Given the description of an element on the screen output the (x, y) to click on. 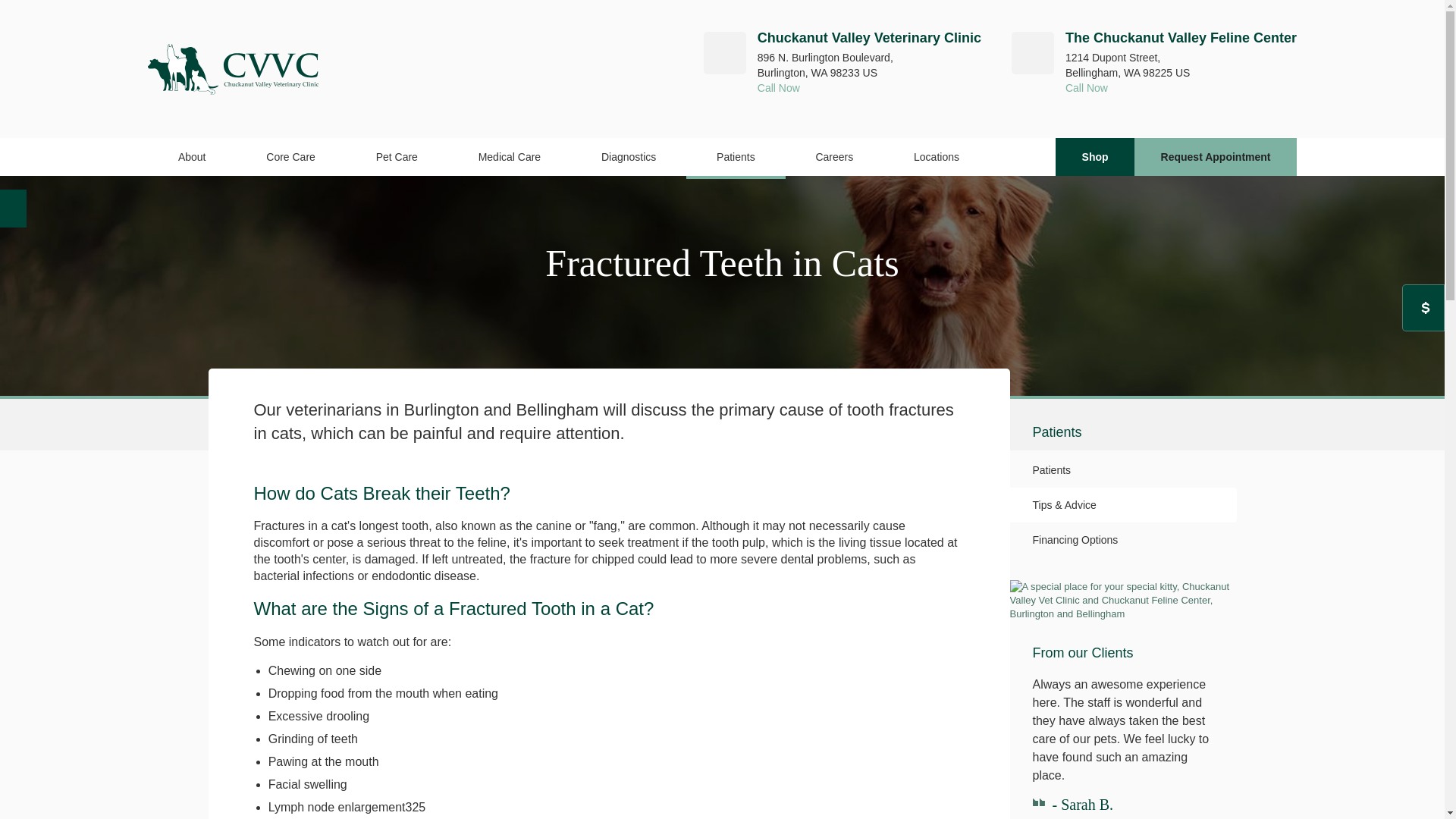
About (191, 157)
360-757-3722 (869, 88)
360-671-7707 (1181, 88)
